Given the description of an element on the screen output the (x, y) to click on. 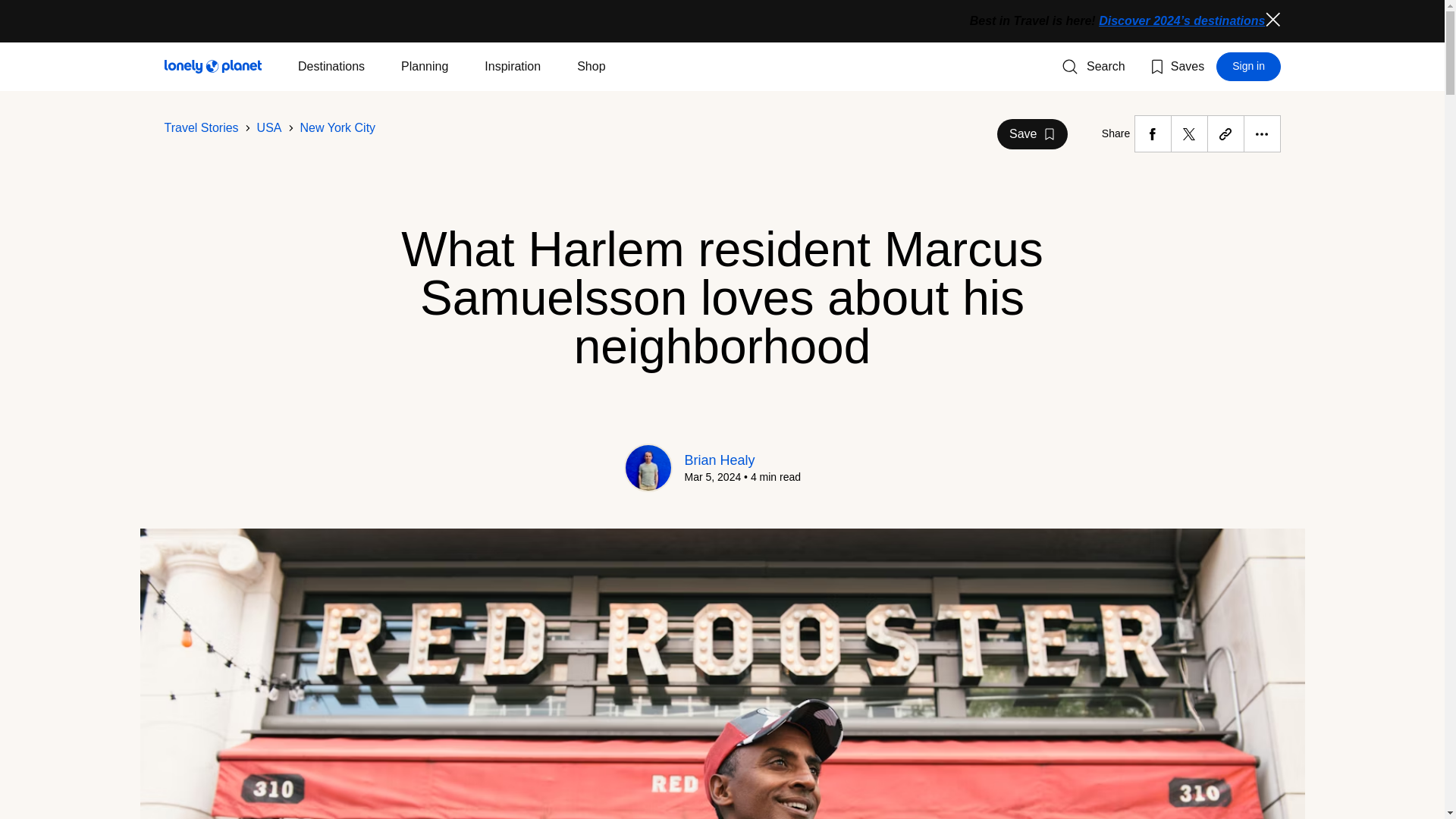
Planning (424, 66)
Lonely Planet (211, 66)
Inspiration (512, 66)
Destinations (330, 66)
Saves (1032, 132)
Close alert (1176, 66)
Search (1272, 19)
New York City (1093, 66)
USA (337, 126)
Travel Stories (269, 126)
Brian Healy (1248, 66)
